Given the description of an element on the screen output the (x, y) to click on. 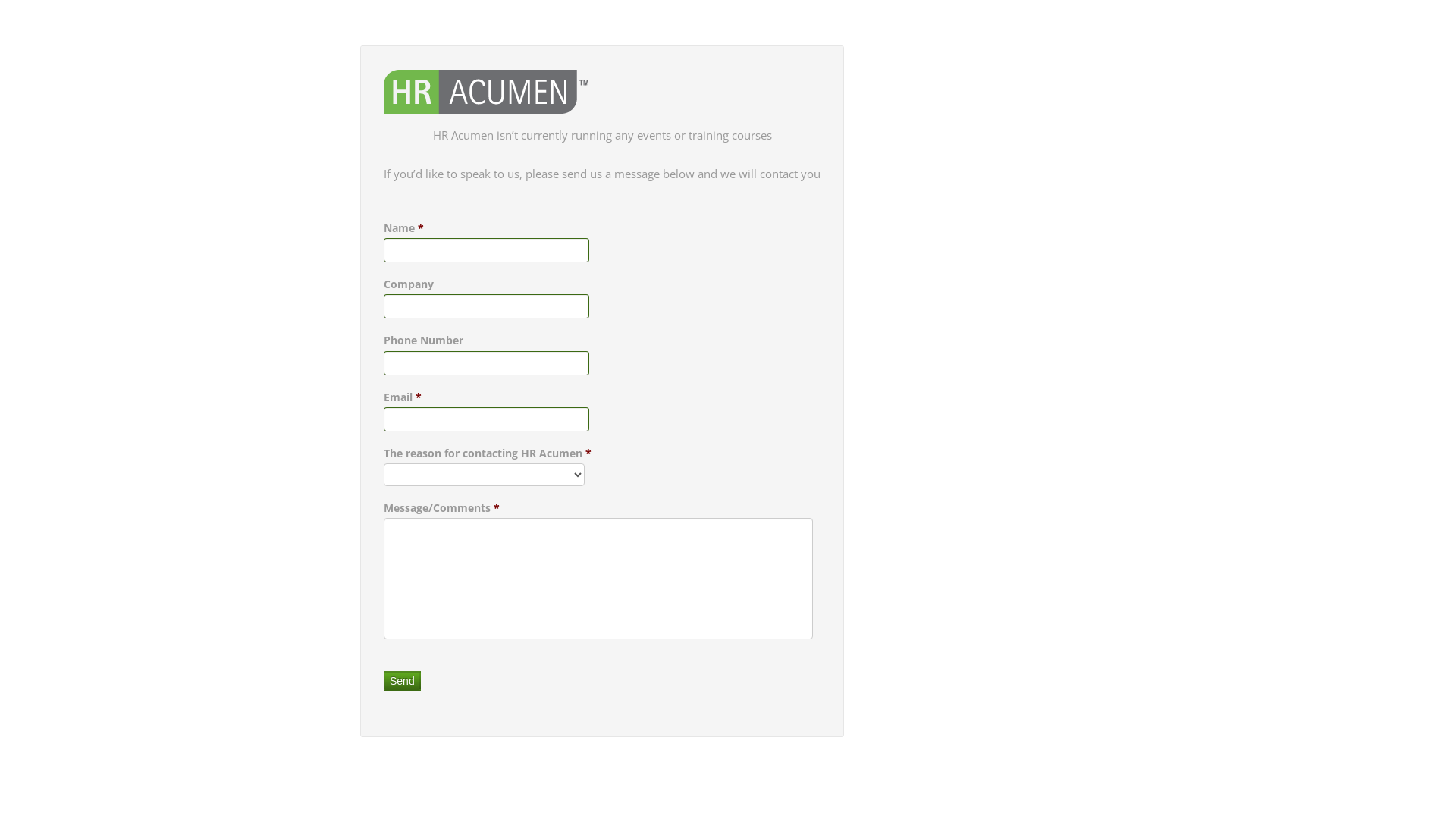
Send Element type: text (401, 680)
